Given the description of an element on the screen output the (x, y) to click on. 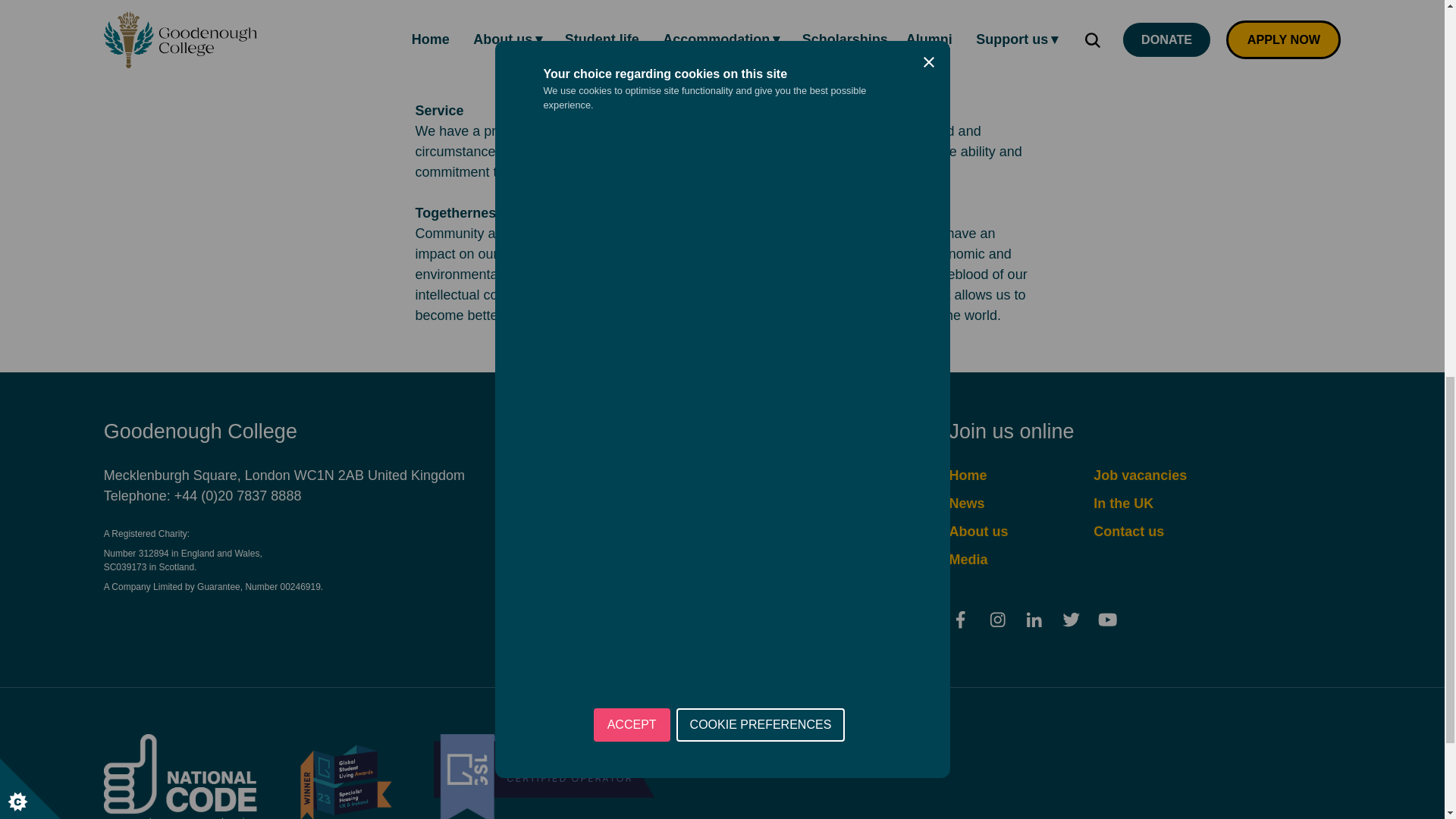
COOKIE PREFERENCES (761, 809)
